Given the description of an element on the screen output the (x, y) to click on. 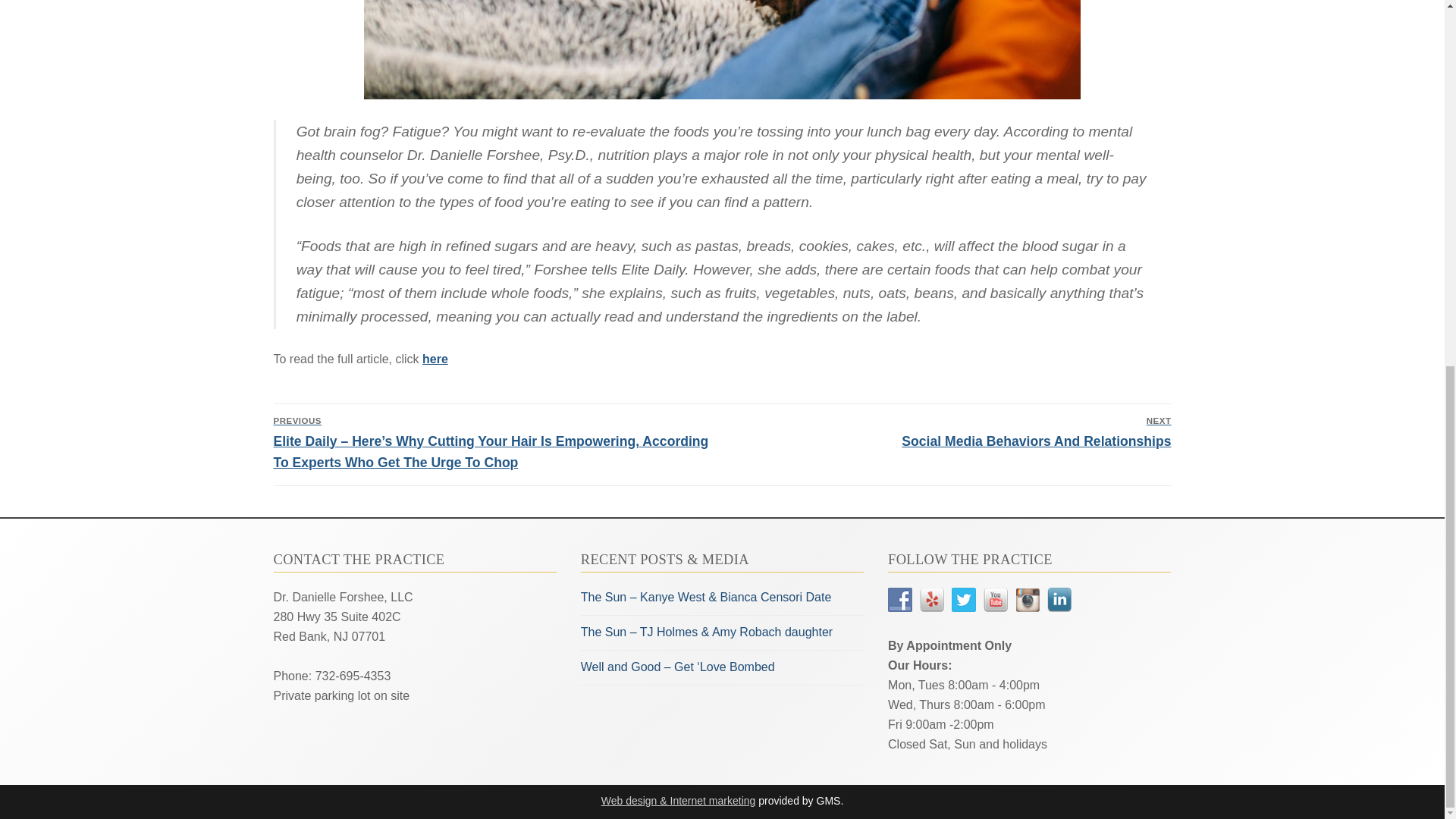
Follow Us on Yelp (931, 599)
Follow Us on YouTube (950, 431)
Follow Us on Instagram (995, 599)
Follow Us on Twitter (1026, 599)
Follow Us on LinkedIn (963, 599)
here (1058, 599)
Follow Us on Facebook (435, 358)
